Given the description of an element on the screen output the (x, y) to click on. 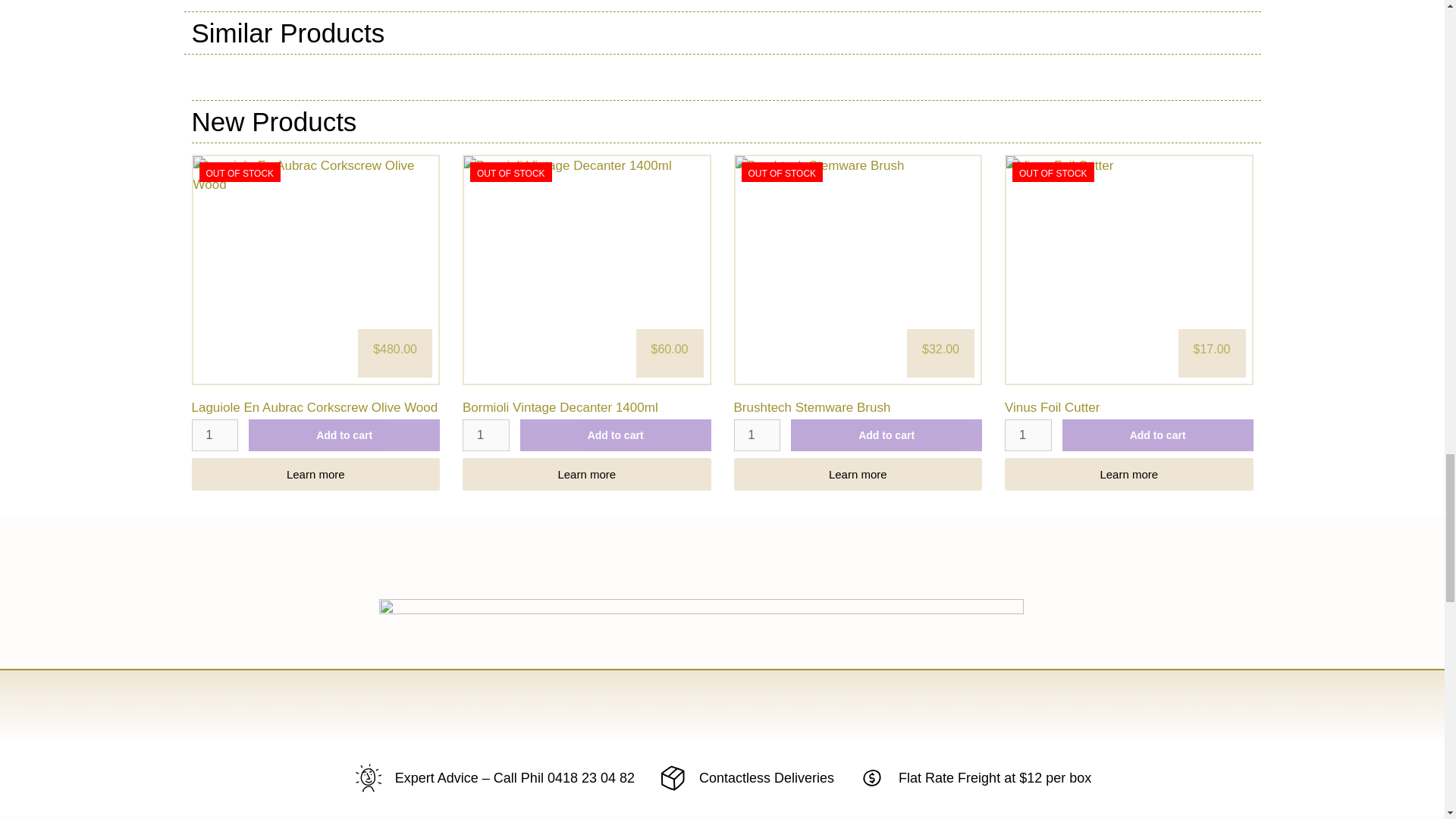
1 (486, 435)
1 (1027, 435)
1 (214, 435)
1 (756, 435)
